Given the description of an element on the screen output the (x, y) to click on. 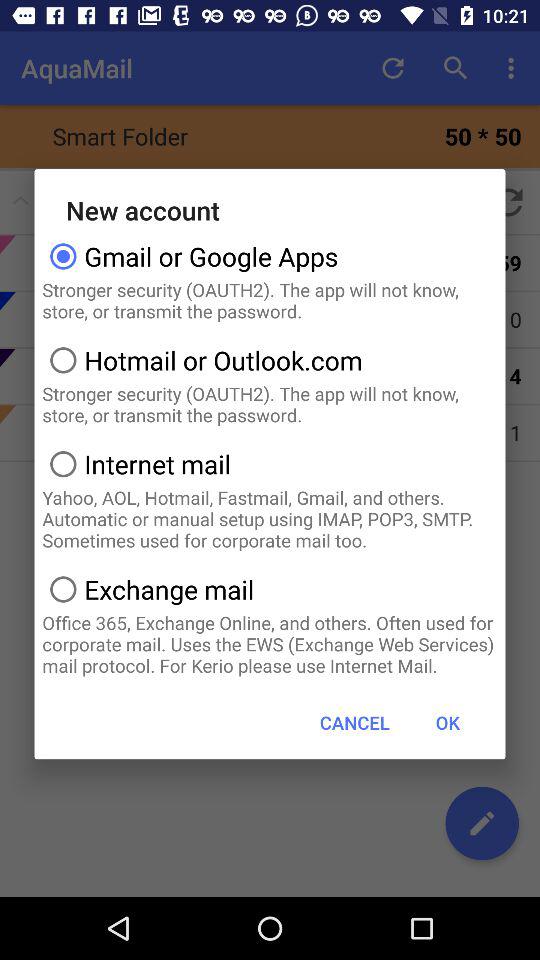
jump to the ok button (447, 722)
